Given the description of an element on the screen output the (x, y) to click on. 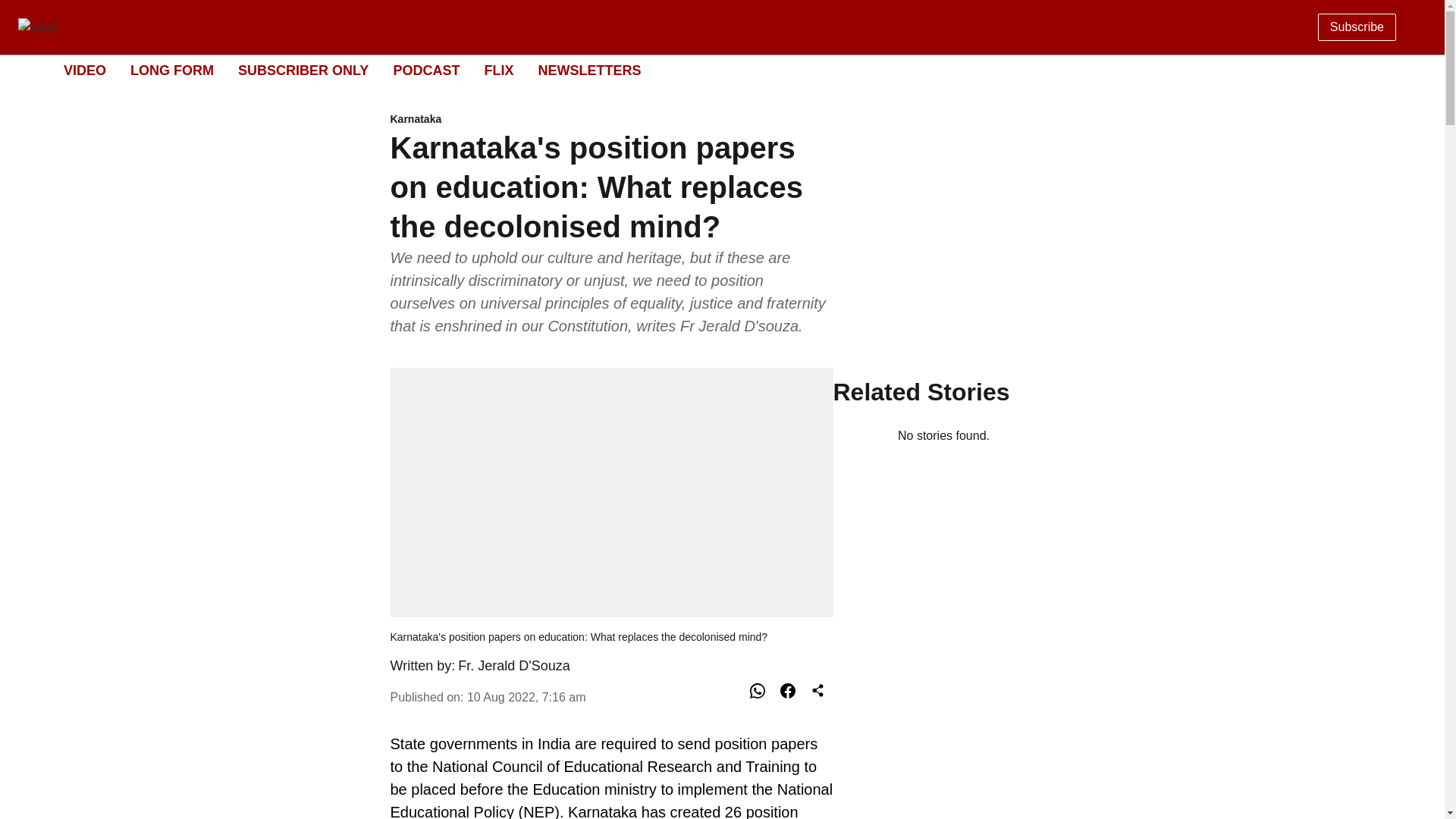
LONG FORM (172, 70)
NEWSLETTERS (588, 70)
PODCAST (426, 70)
2022-08-10 07:16 (526, 697)
Karnataka (611, 119)
FLIX (707, 70)
SUBSCRIBER ONLY (498, 70)
Fr. Jerald D'Souza (303, 70)
VIDEO (514, 665)
